Given the description of an element on the screen output the (x, y) to click on. 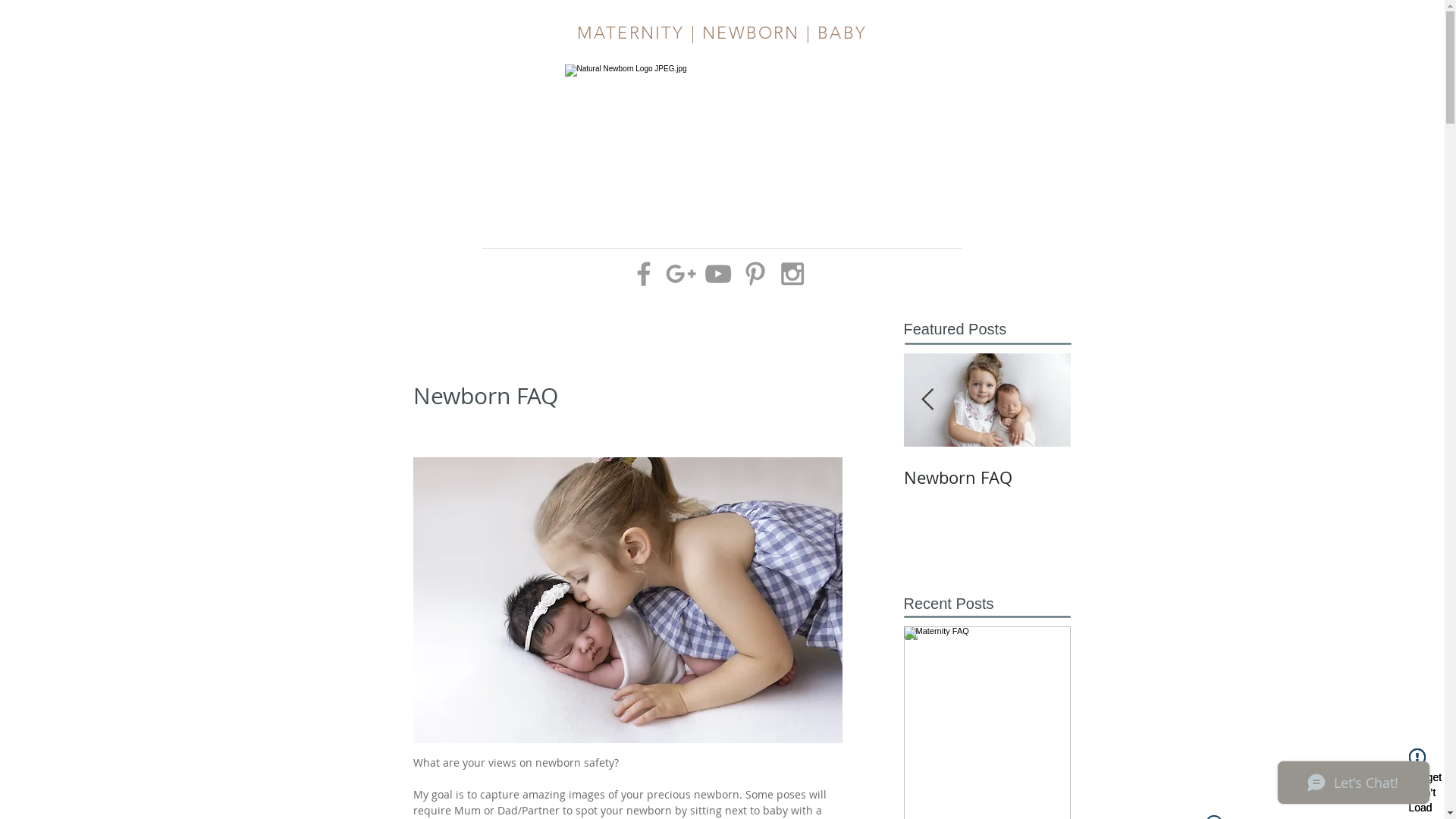
How To Boost Your Child's Self Esteem Element type: text (486, 488)
Self Care For Mums Element type: text (319, 477)
Newborn Preparation Guide Element type: text (653, 488)
Newborn FAQ Element type: text (986, 477)
